Given the description of an element on the screen output the (x, y) to click on. 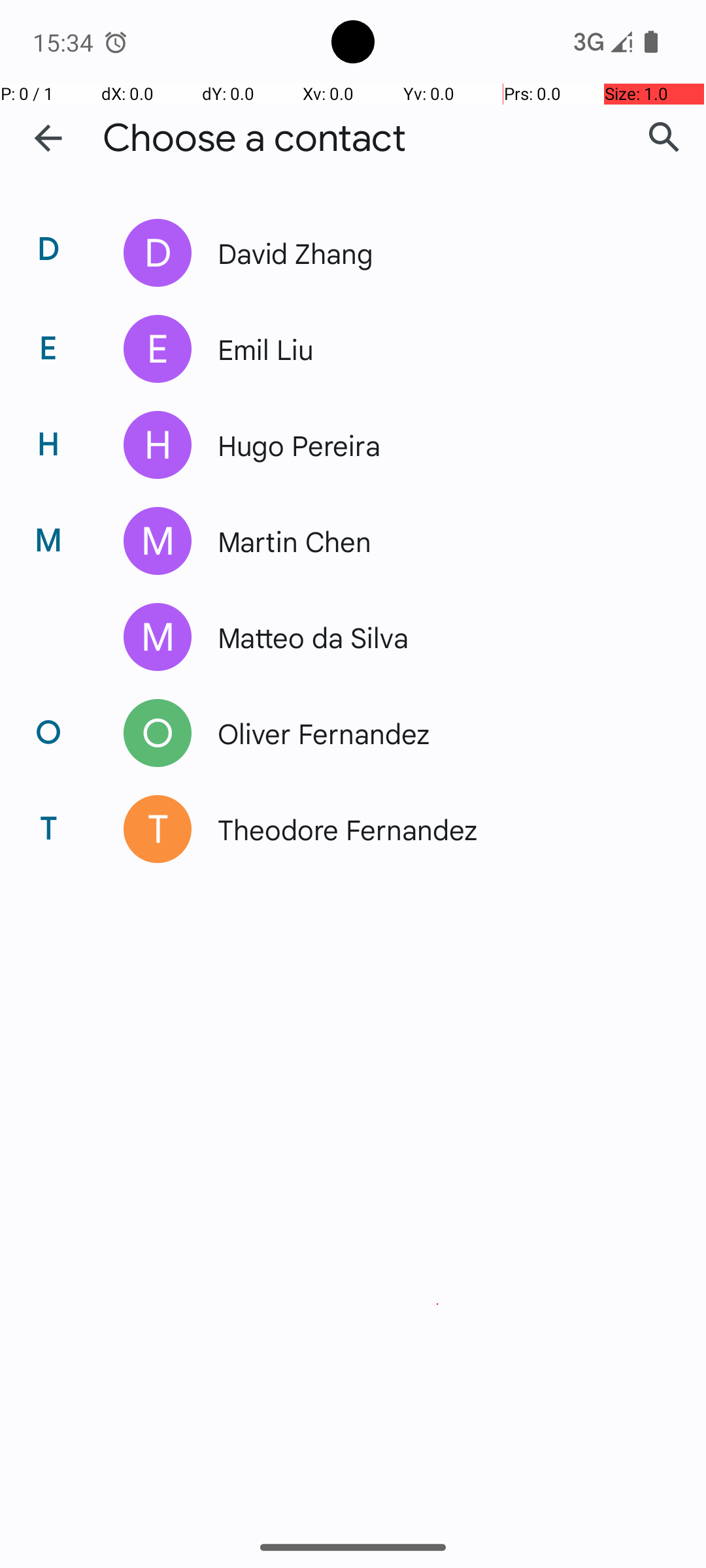
Choose a contact Element type: android.widget.TextView (253, 138)
Search contacts Element type: android.widget.Button (664, 137)
David Zhang Element type: android.widget.TextView (434, 252)
Emil Liu Element type: android.widget.TextView (434, 348)
Hugo Pereira Element type: android.widget.TextView (434, 444)
Martin Chen Element type: android.widget.TextView (434, 540)
Matteo da Silva Element type: android.widget.TextView (434, 636)
Oliver Fernandez Element type: android.widget.TextView (434, 732)
Theodore Fernandez Element type: android.widget.TextView (434, 828)
